Given the description of an element on the screen output the (x, y) to click on. 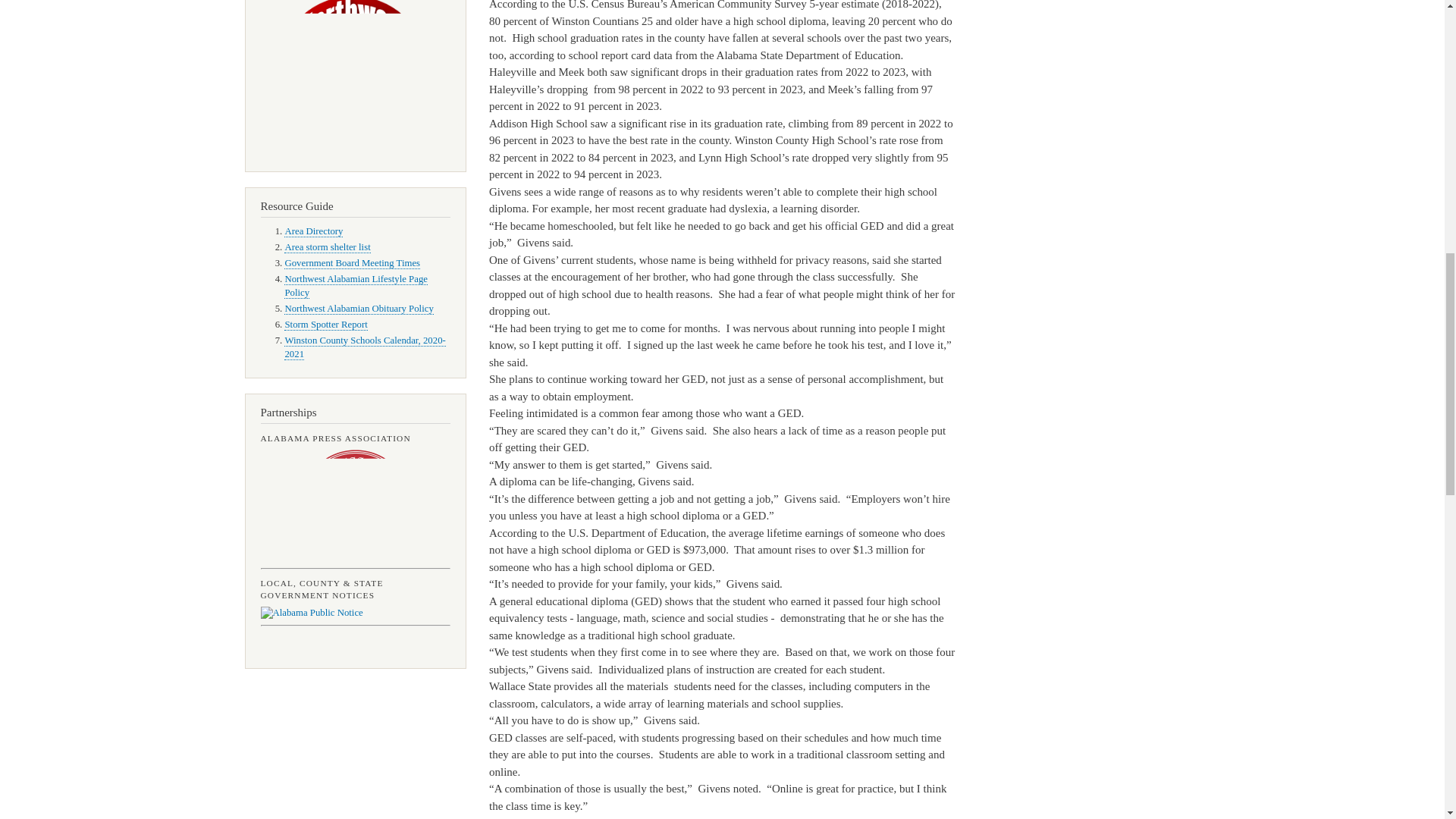
Government Board Meeting Times (351, 263)
Area storm shelter list (326, 247)
Area Directory (312, 231)
